Given the description of an element on the screen output the (x, y) to click on. 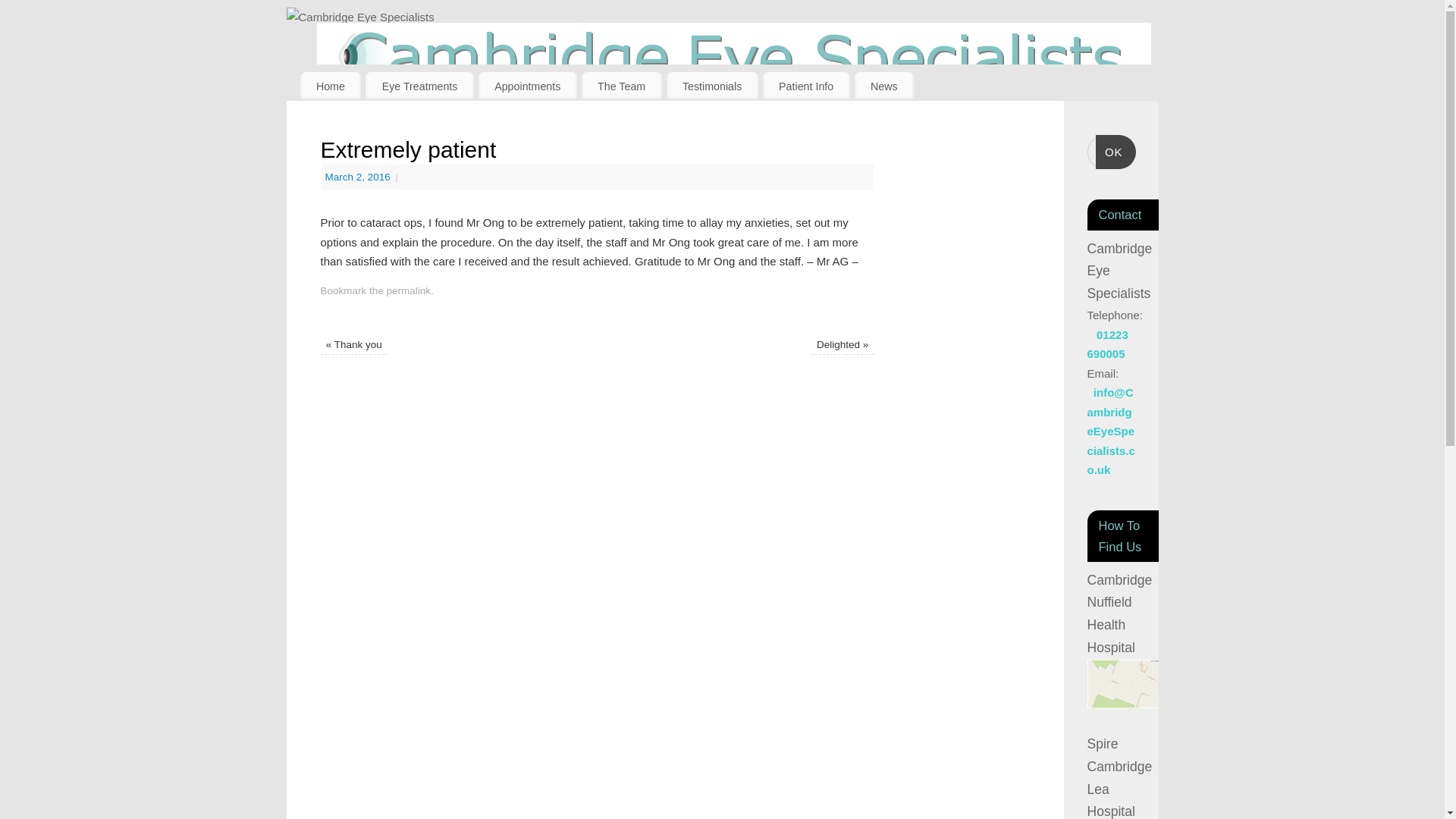
Appointments (527, 86)
Home (330, 86)
News (884, 86)
Patient Info (806, 86)
OK (1115, 151)
permalink (408, 290)
Cambridge Eye Specialists (722, 17)
Eye Treatments (419, 86)
March 2, 2016 (358, 176)
Permalink to Extremely patient (408, 290)
The Team (621, 86)
2:41 pm (358, 176)
Testimonials (712, 86)
